Given the description of an element on the screen output the (x, y) to click on. 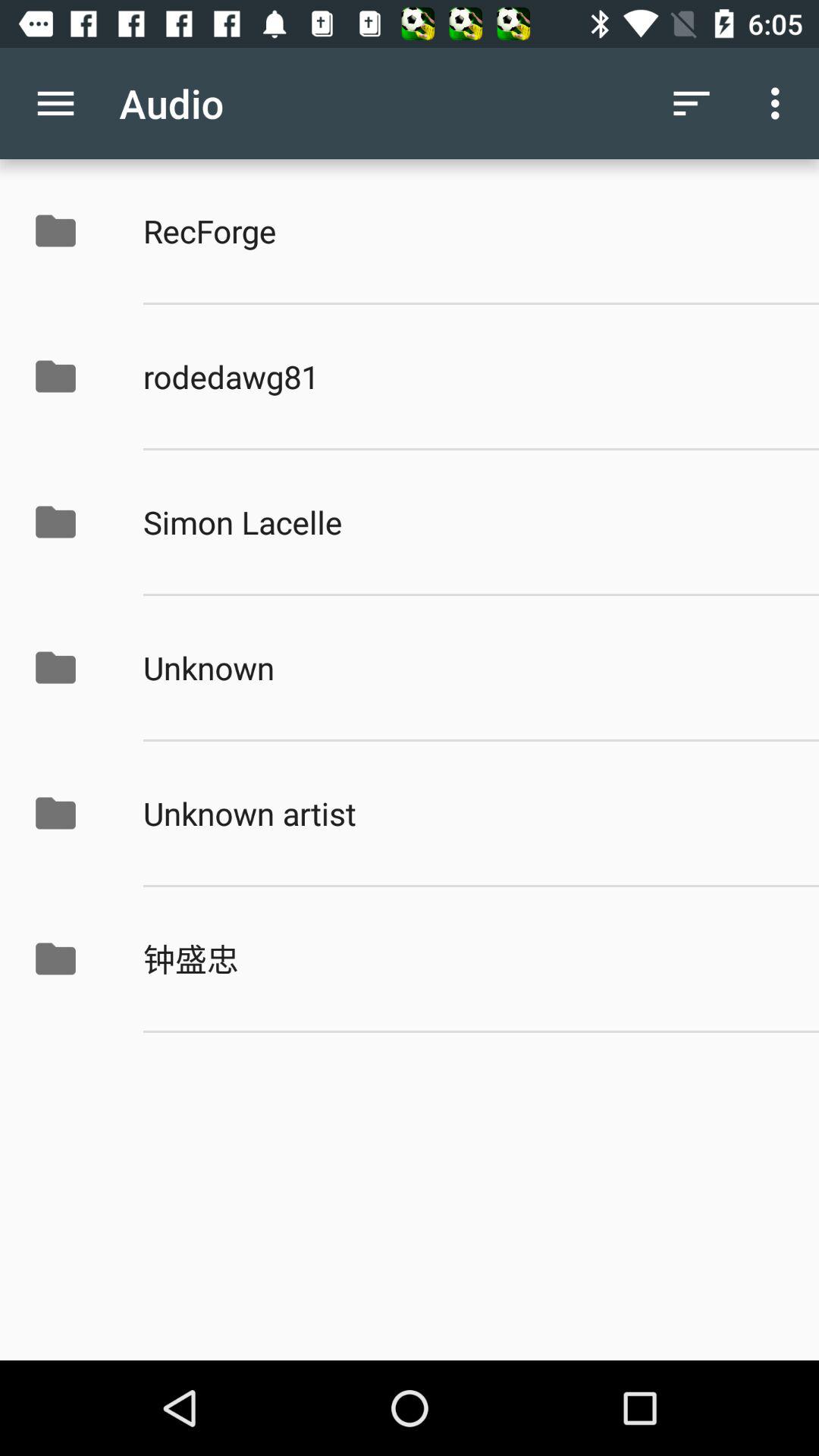
launch app above unknown icon (465, 521)
